Given the description of an element on the screen output the (x, y) to click on. 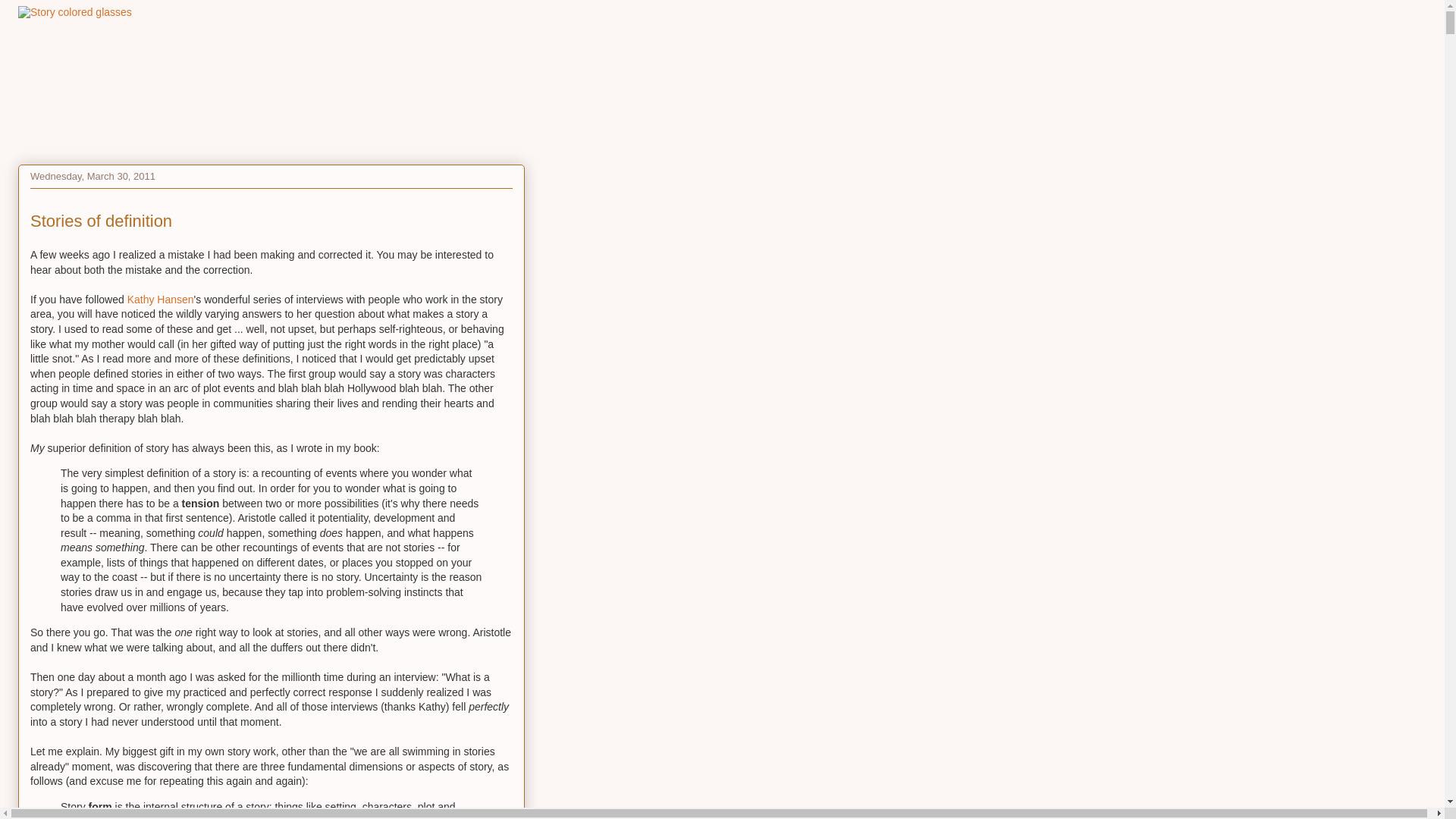
Stories of definition (100, 220)
Kathy Hansen (160, 299)
